Given the description of an element on the screen output the (x, y) to click on. 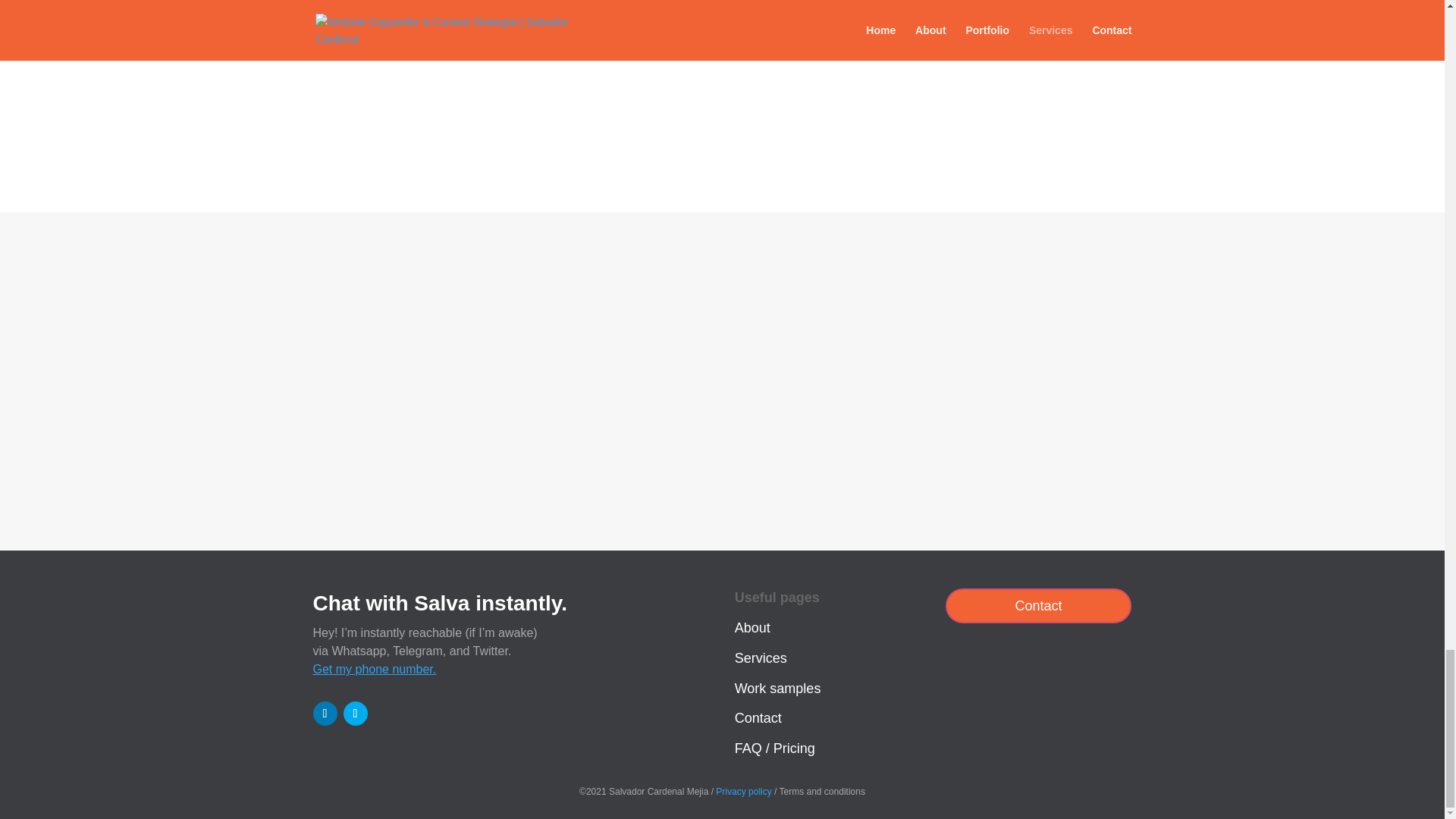
Privacy policy (743, 791)
Work samples (778, 688)
Contact (1038, 605)
Follow on LinkedIn (324, 713)
Contact (758, 717)
Services (761, 657)
Follow on Twitter (354, 713)
About (752, 627)
Get my phone number. (374, 668)
